Given the description of an element on the screen output the (x, y) to click on. 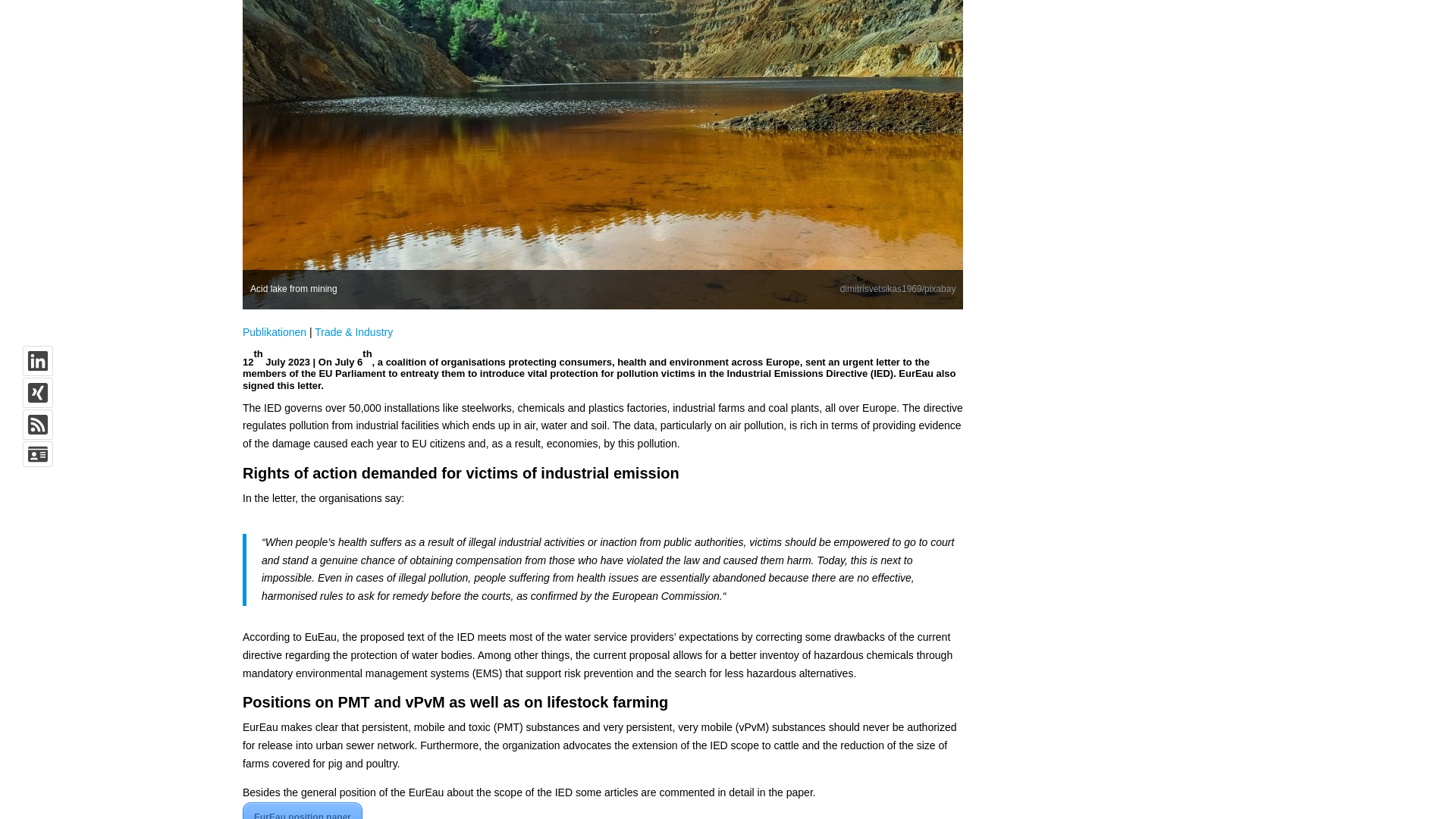
Publikationen (274, 331)
